Given the description of an element on the screen output the (x, y) to click on. 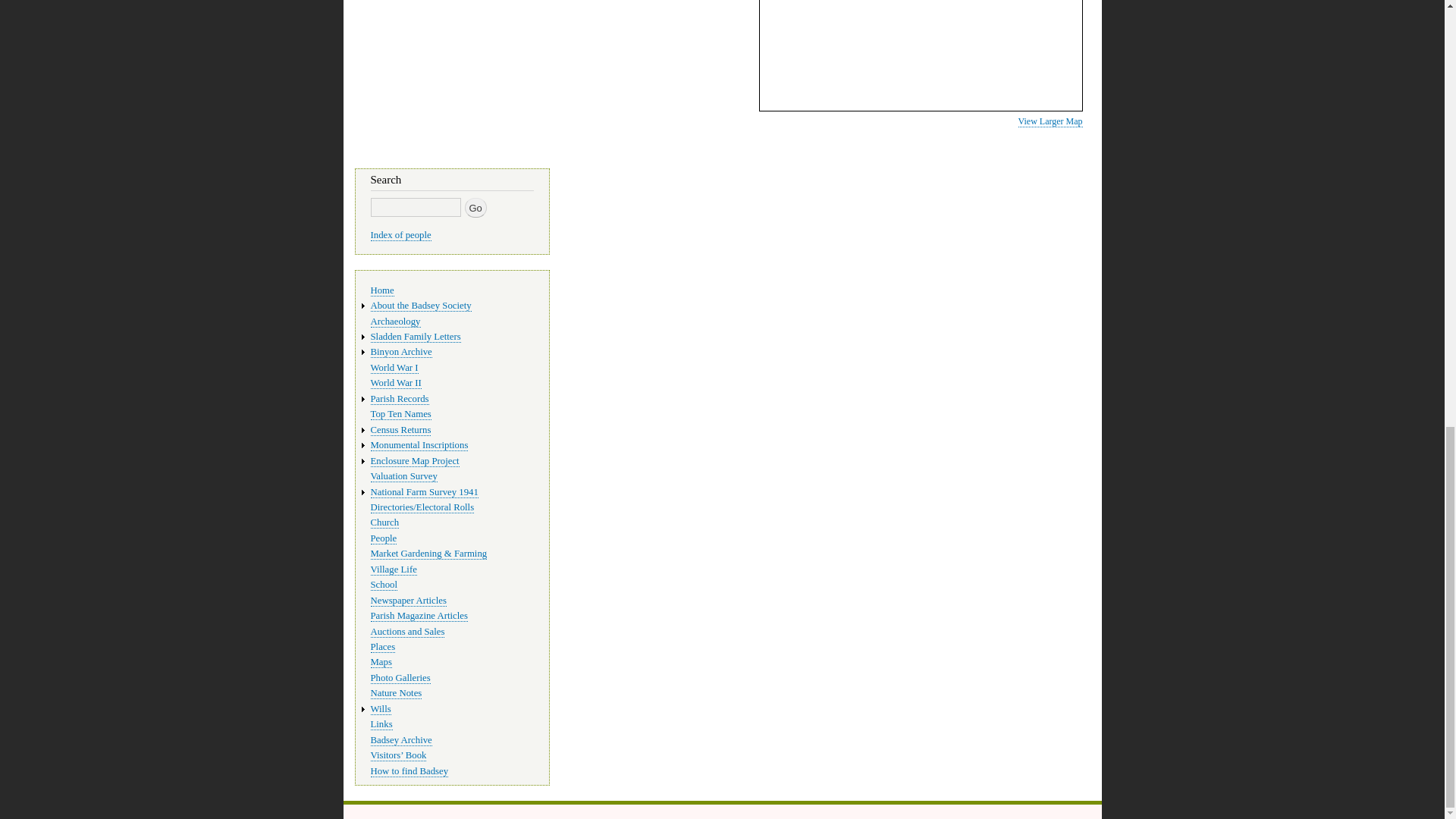
Enter the terms you wish to search for. (414, 207)
Binyon Archive (399, 351)
Home (381, 290)
About the Badsey Society (419, 306)
Enclosure Map Project (413, 460)
Village Life (392, 569)
Parish Records (398, 398)
Valuation Survey (402, 476)
World War II (394, 383)
Census Returns (399, 430)
Go (475, 207)
Sladden Family Letters (414, 337)
Archaeology (394, 321)
Index of people (399, 235)
Monumental Inscriptions (418, 445)
